Given the description of an element on the screen output the (x, y) to click on. 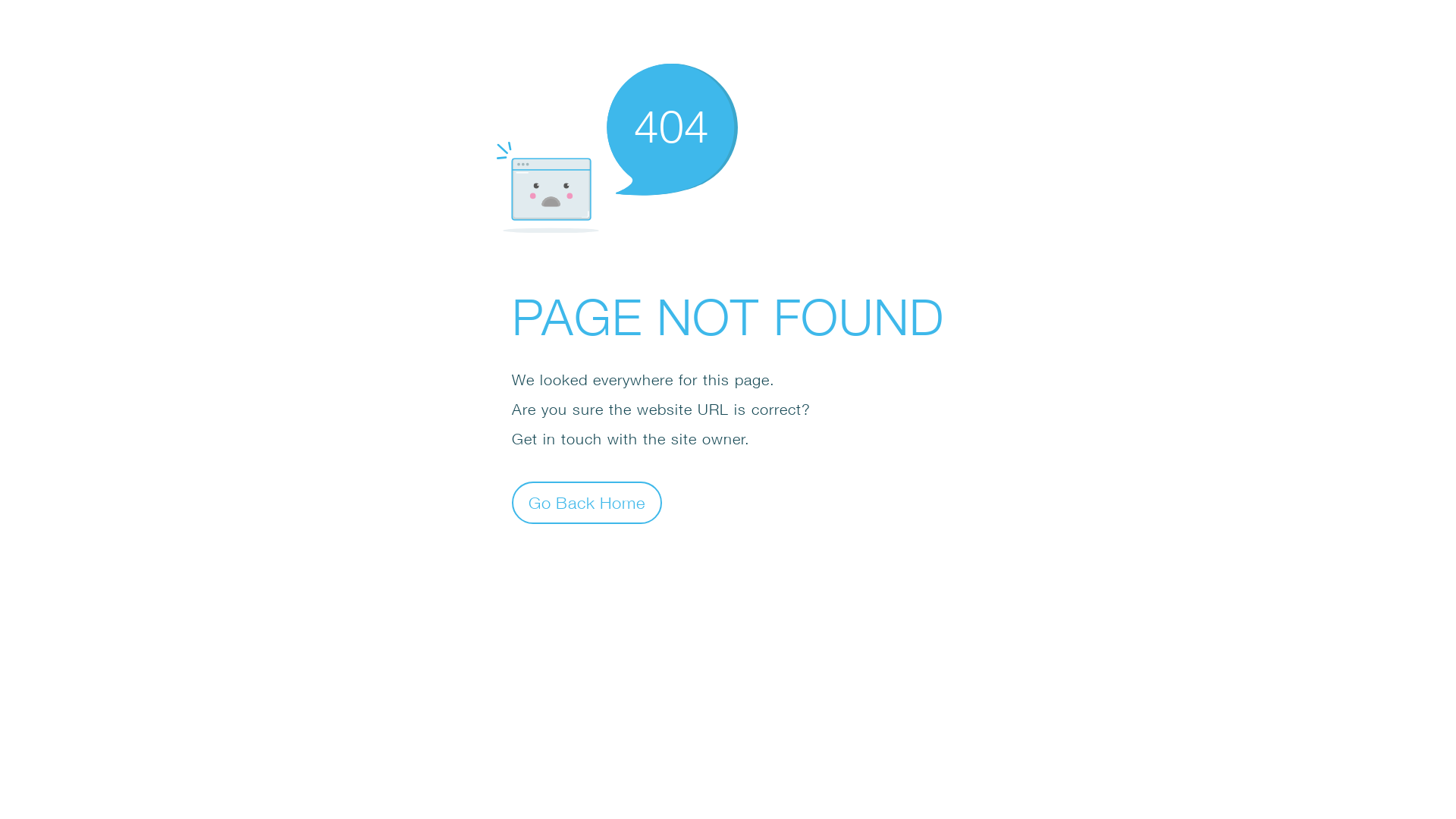
Go Back Home Element type: text (586, 502)
